Given the description of an element on the screen output the (x, y) to click on. 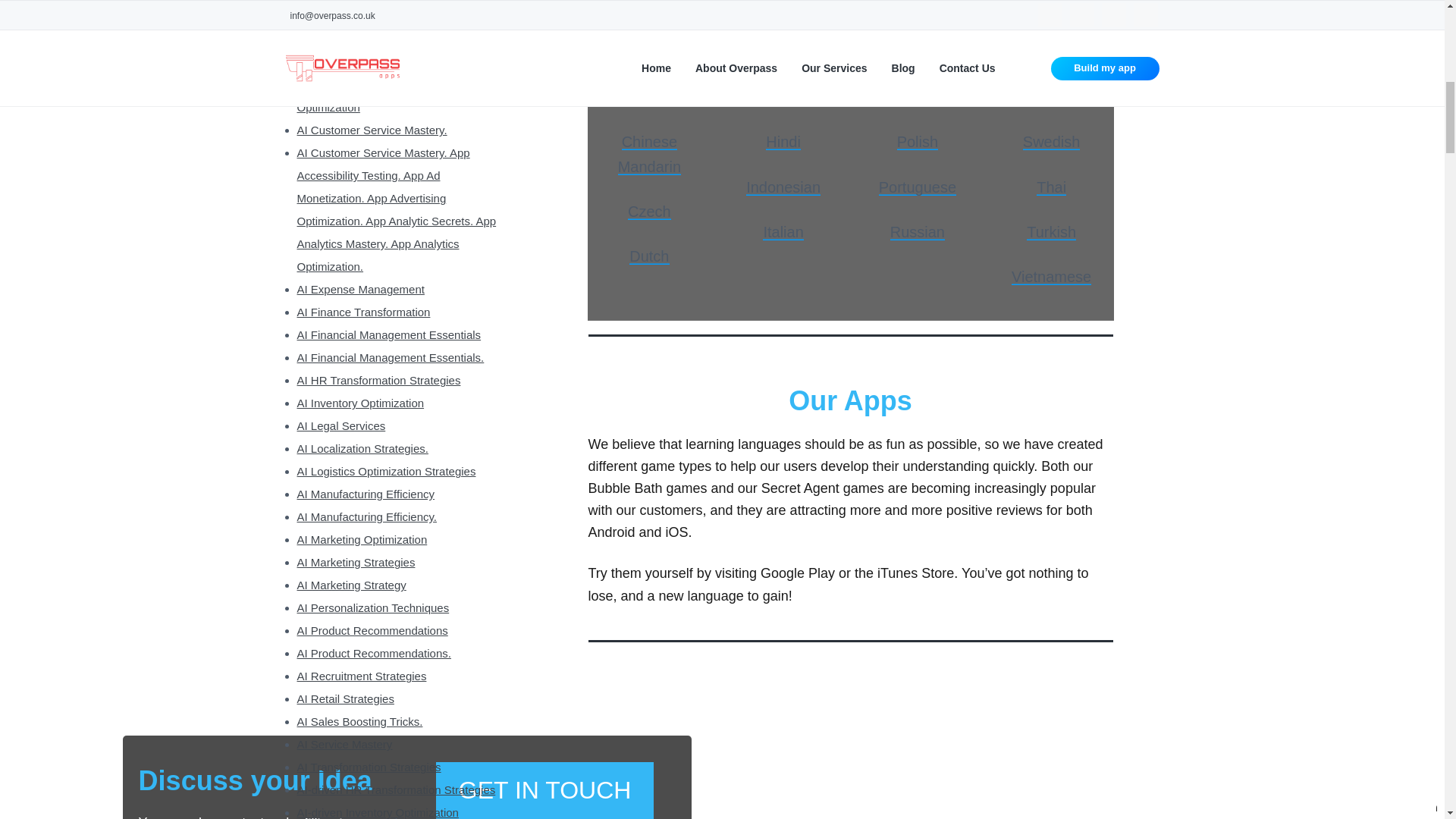
Cantonese (648, 96)
French (783, 7)
Hebrew (783, 96)
Chinese Mandarin (649, 153)
German (782, 52)
Arabic (649, 7)
Bengali (649, 52)
Dutch (648, 256)
Czech (649, 211)
